Given the description of an element on the screen output the (x, y) to click on. 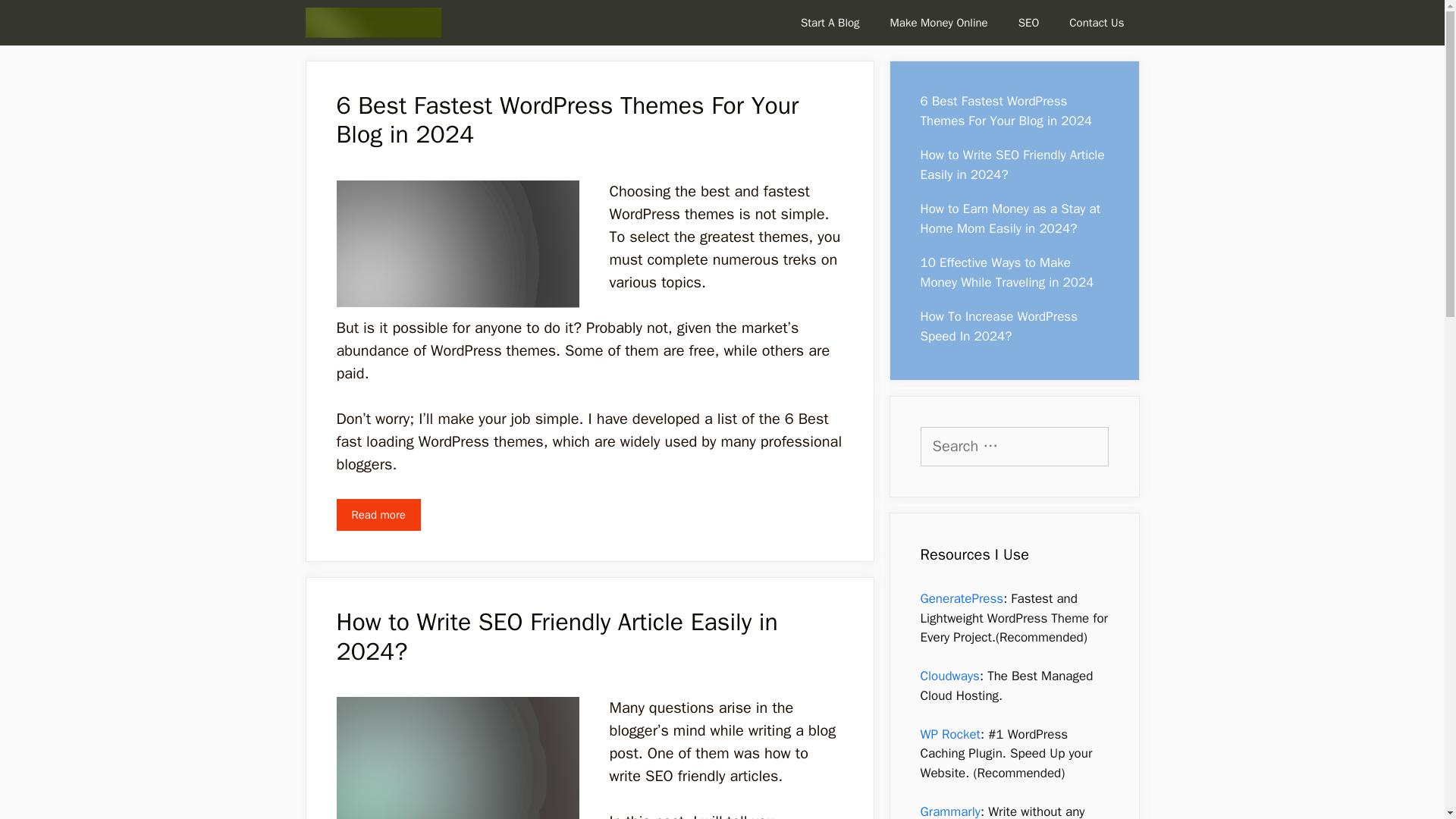
Contact Us (1096, 22)
Search (33, 17)
10 Effective Ways to Make Money While Traveling in 2024 (1007, 272)
How To Increase WordPress Speed In 2024? (998, 325)
6 Best Fastest WordPress Themes For Your Blog in 2024 (378, 514)
How to Write SEO Friendly Article Easily in 2024? (1012, 164)
Grammarly (949, 811)
Start A Blog (830, 22)
Search for: (1014, 446)
How to Earn Money as a Stay at Home Mom Easily in 2024? (1010, 218)
Read more (378, 514)
6 Best Fastest WordPress Themes For Your Blog in 2024 (567, 119)
WP Rocket (949, 734)
Cloudways (949, 675)
Bloggers Word (376, 22)
